Given the description of an element on the screen output the (x, y) to click on. 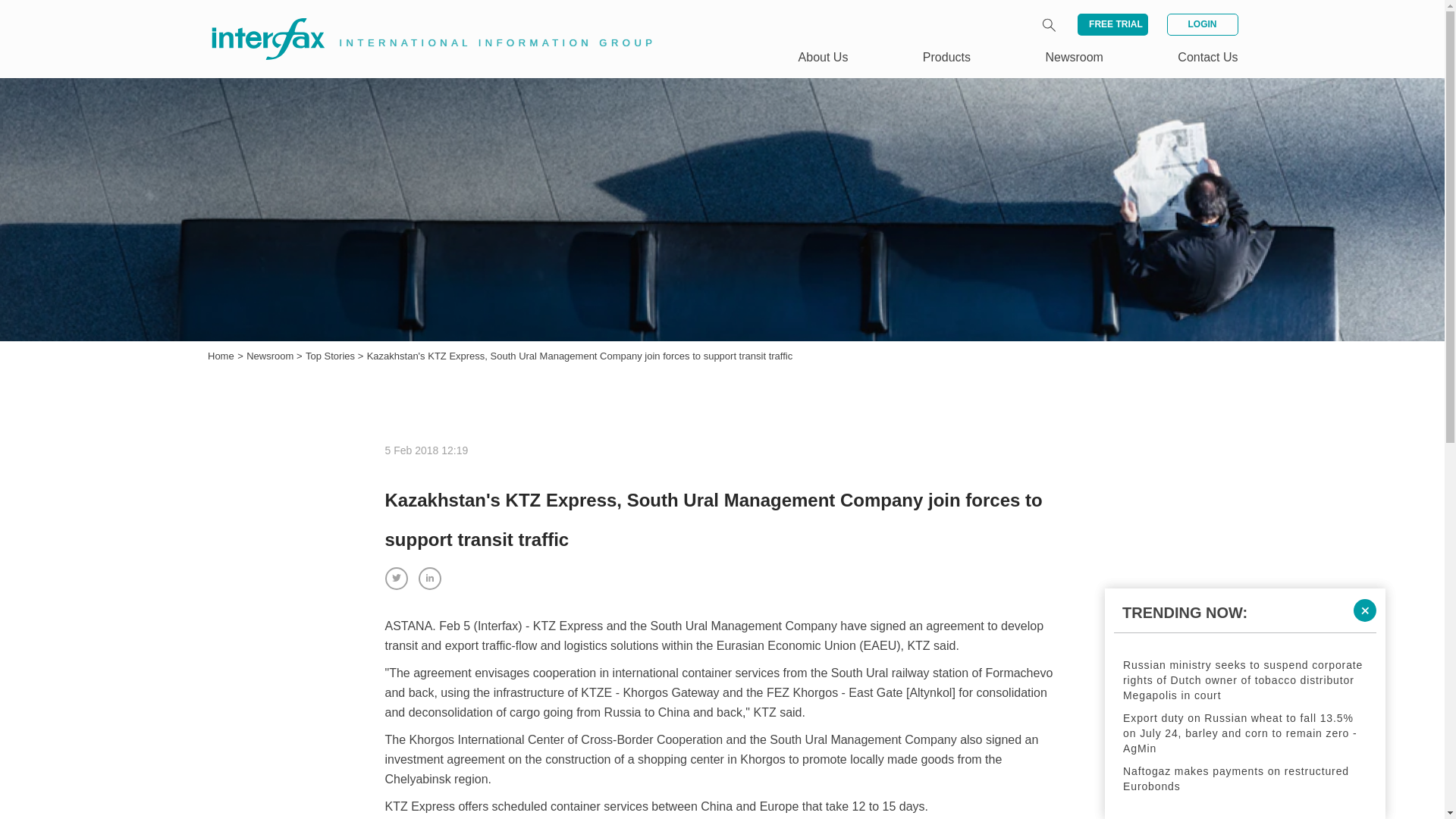
Contact Us (1207, 56)
Top Stories (331, 355)
Newsroom (271, 355)
Home (221, 355)
Newsroom (1073, 56)
FREE TRIAL (1112, 24)
LOGIN (1201, 24)
Contact Us (1207, 56)
About Us (822, 56)
Newsroom (271, 355)
Products (947, 56)
INTERNATIONAL INFORMATION GROUP (421, 20)
